Given the description of an element on the screen output the (x, y) to click on. 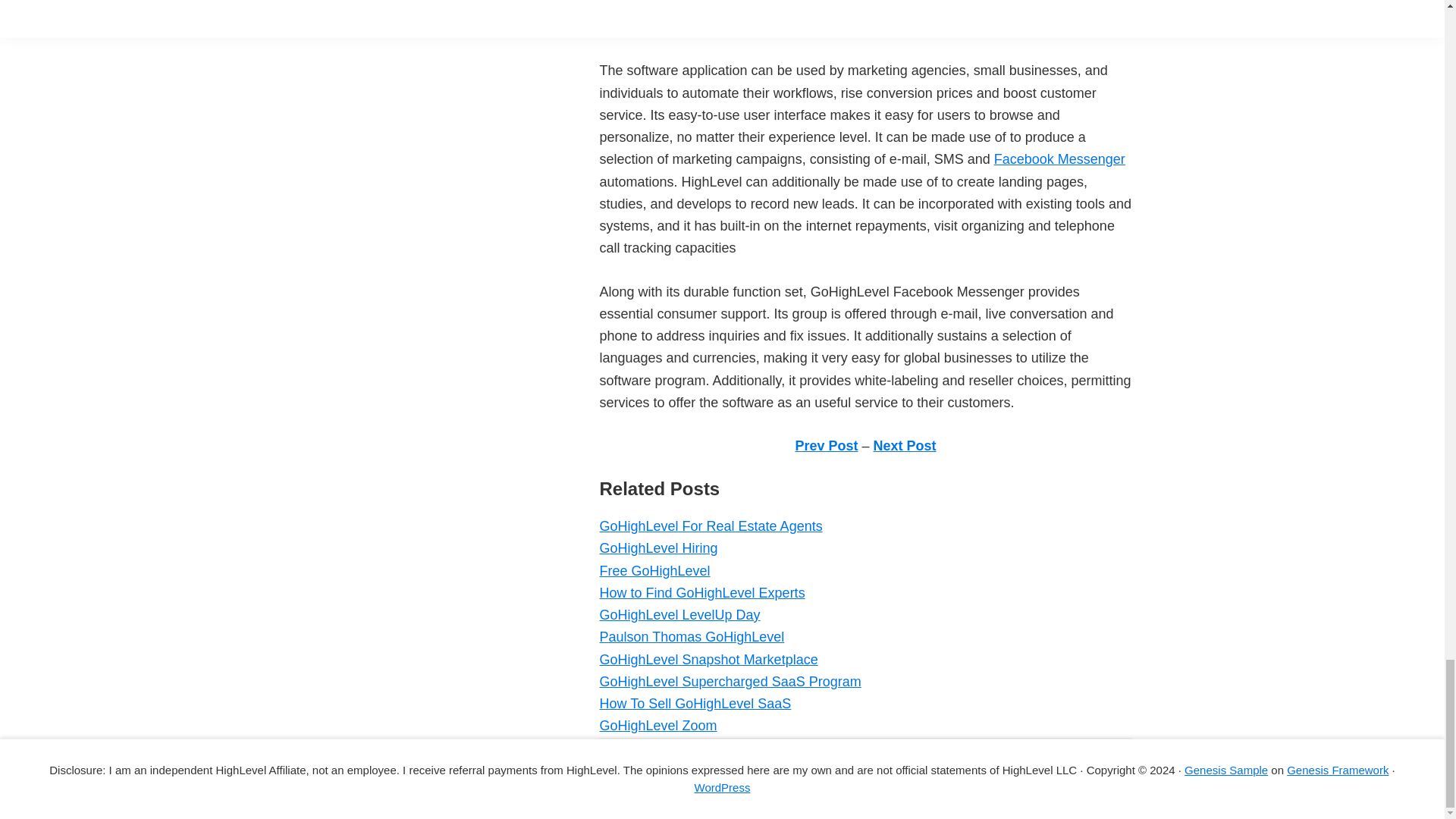
GoHighLevel Hiring (657, 548)
GoHighLevel LevelUp Day (679, 614)
How To Sell GoHighLevel SaaS (694, 703)
Next Post (904, 445)
Prev Post (825, 445)
Paulson Thomas GoHighLevel (691, 636)
GoHighLevel LevelUp Day (679, 614)
GoHighLevel Zoom (657, 725)
GoHighLevel Supercharged SaaS Program (729, 681)
How to Find GoHighLevel Experts (701, 592)
